Given the description of an element on the screen output the (x, y) to click on. 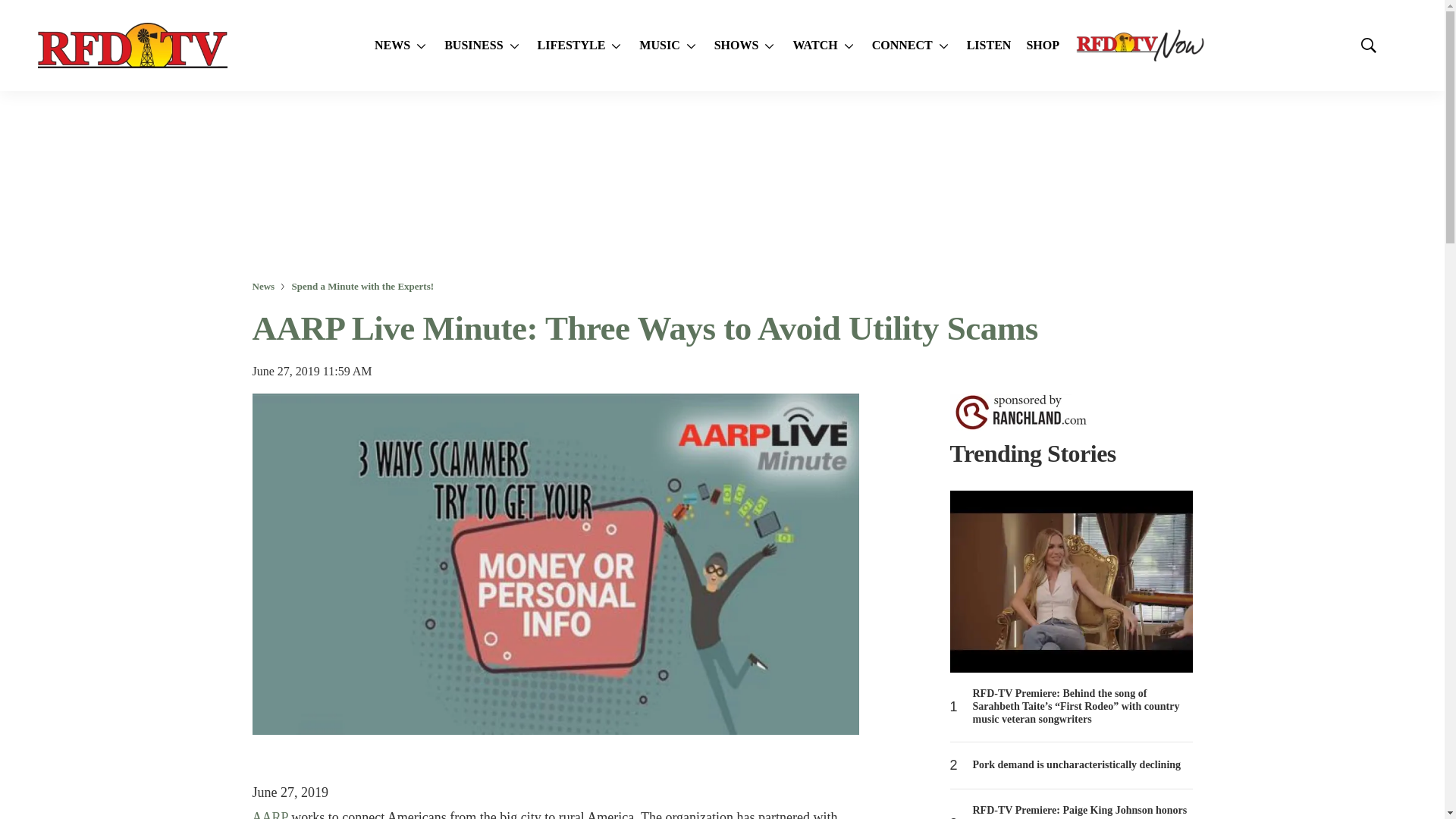
3rd party ad content (721, 185)
